Given the description of an element on the screen output the (x, y) to click on. 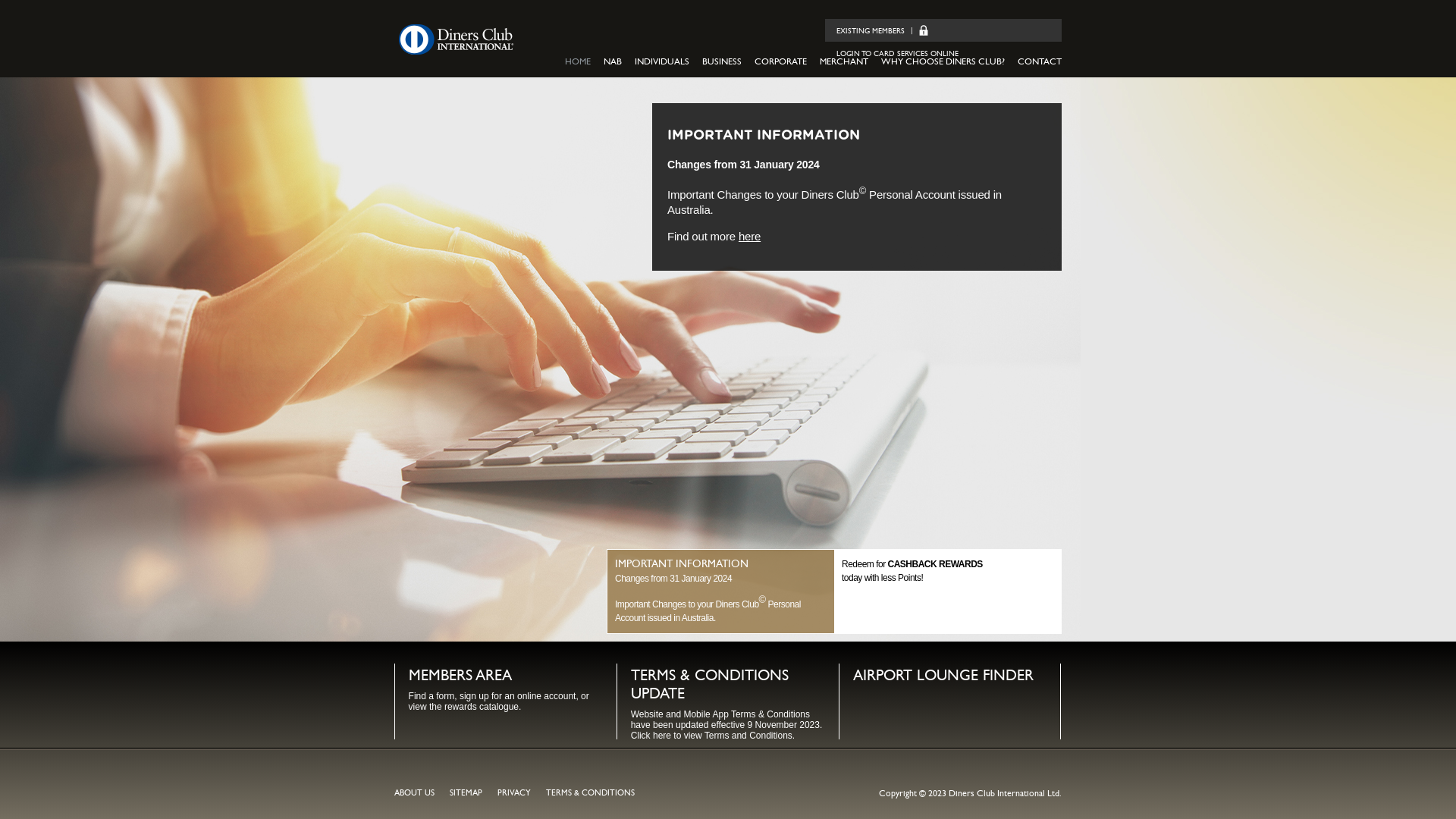
Login Element type: hover (923, 29)
WHY CHOOSE DINERS CLUB? Element type: text (942, 61)
TERMS & CONDITIONS Element type: text (590, 792)
PRIVACY Element type: text (513, 792)
BUSINESS Element type: text (721, 61)
NAB Element type: text (612, 61)
CONTACT Element type: text (1039, 61)
LOGIN TO CARD SERVICES ONLINE Element type: text (897, 53)
CORPORATE Element type: text (780, 61)
SITEMAP Element type: text (465, 792)
Login Element type: hover (923, 30)
ABOUT US Element type: text (414, 792)
MERCHANT Element type: text (843, 61)
here Element type: text (749, 235)
Diners Club Element type: hover (455, 39)
INDIVIDUALS Element type: text (661, 61)
EXISTING MEMBERS Element type: text (870, 30)
